Given the description of an element on the screen output the (x, y) to click on. 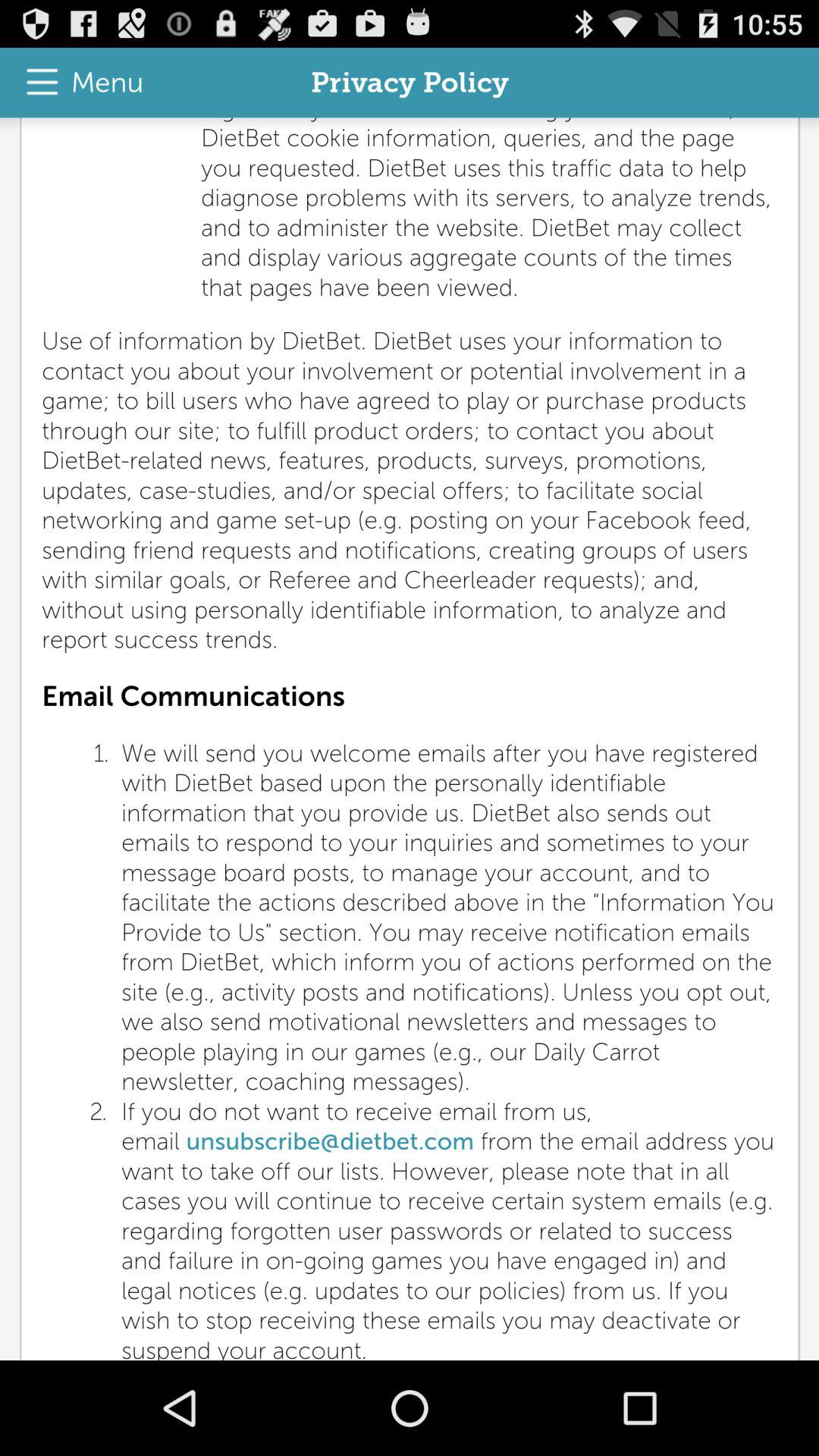
privacy policy (409, 738)
